Given the description of an element on the screen output the (x, y) to click on. 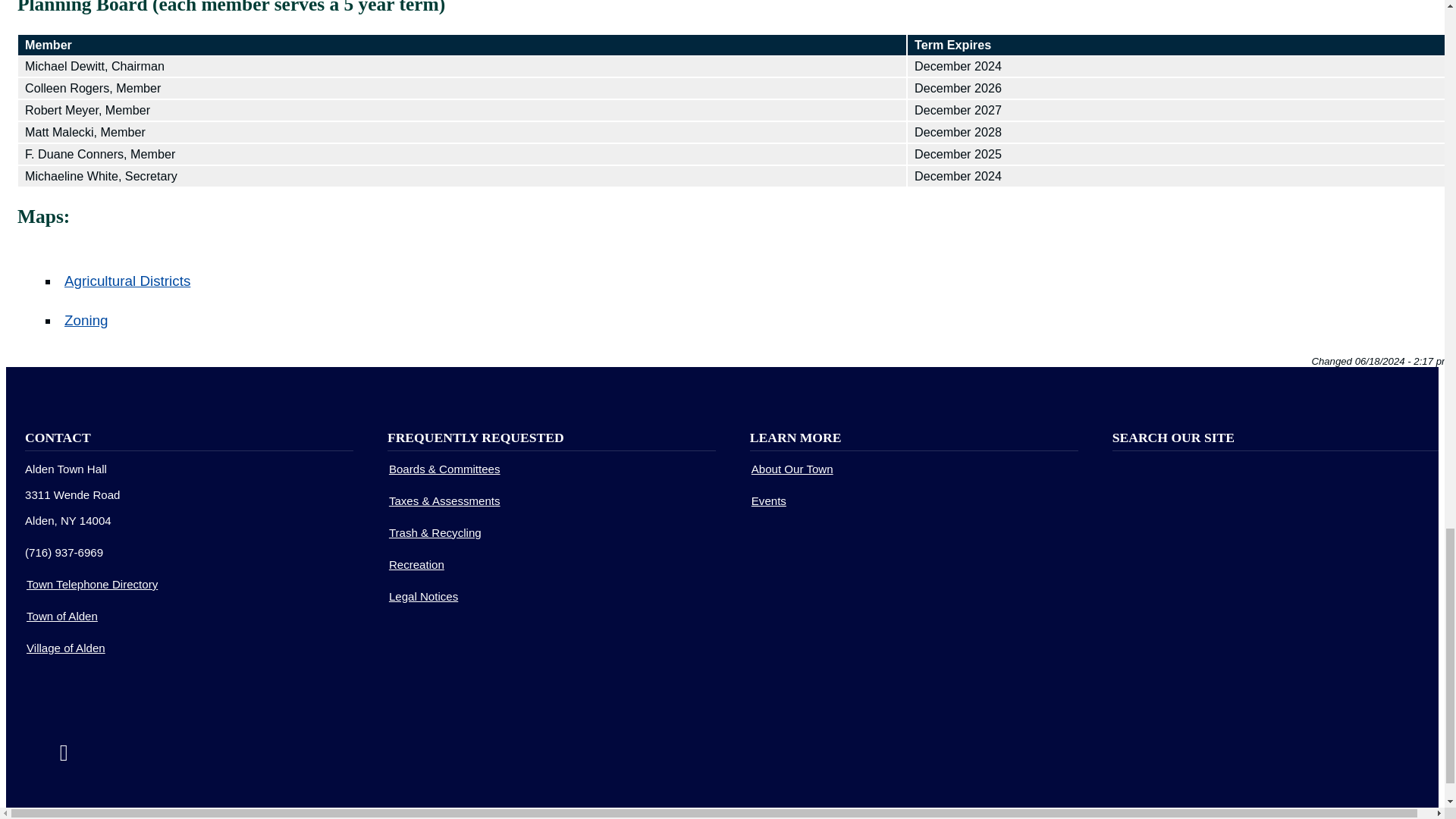
Village of Alden (65, 647)
Agricultural Districts (127, 280)
Zoning (86, 320)
Town of Alden (61, 616)
Town Telephone Directory (91, 584)
